Given the description of an element on the screen output the (x, y) to click on. 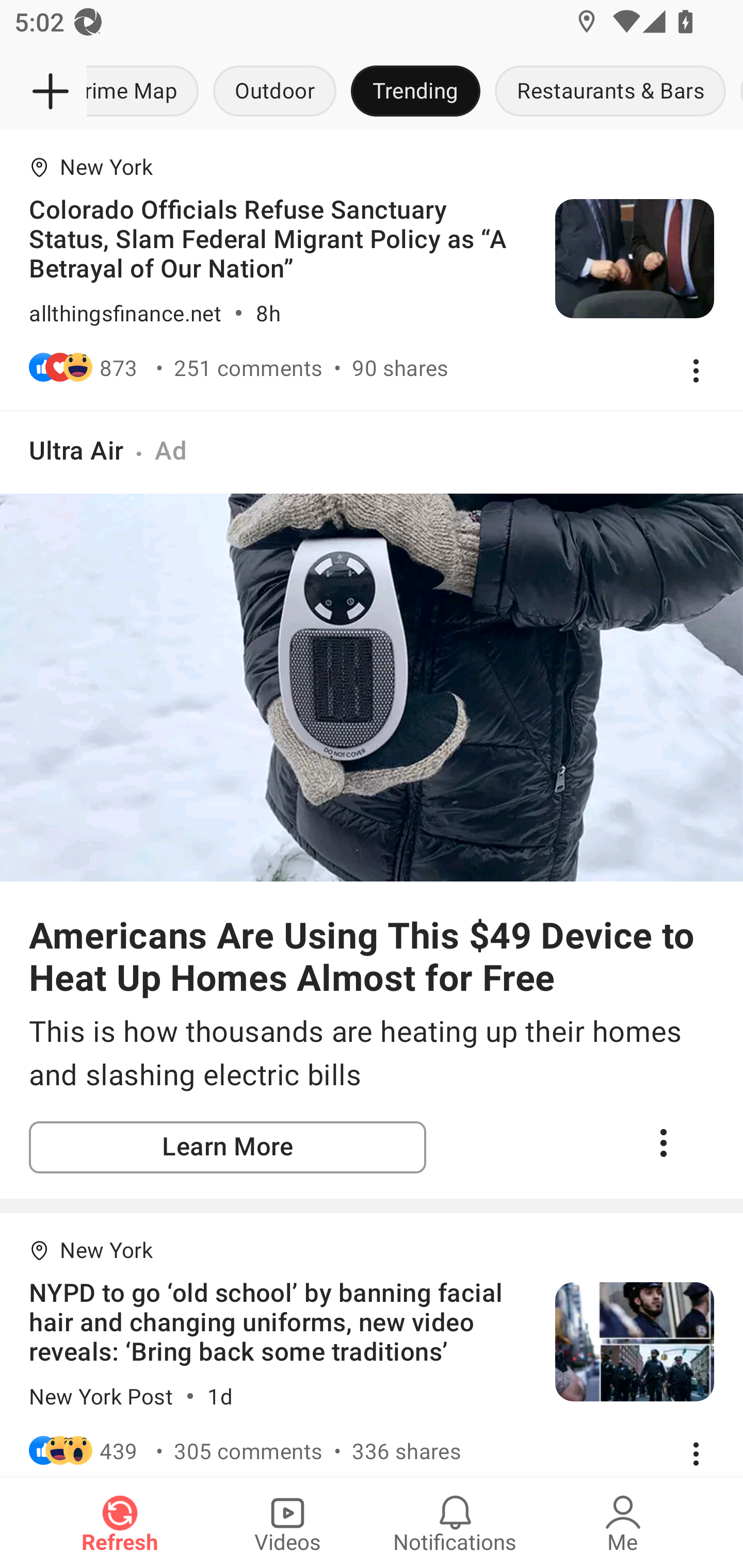
Crime Map (145, 91)
Outdoor (274, 91)
Trending (415, 91)
Restaurants & Bars (610, 91)
Ultra Air (76, 449)
Learn More (227, 1146)
Videos (287, 1522)
Notifications (455, 1522)
Me (622, 1522)
